Given the description of an element on the screen output the (x, y) to click on. 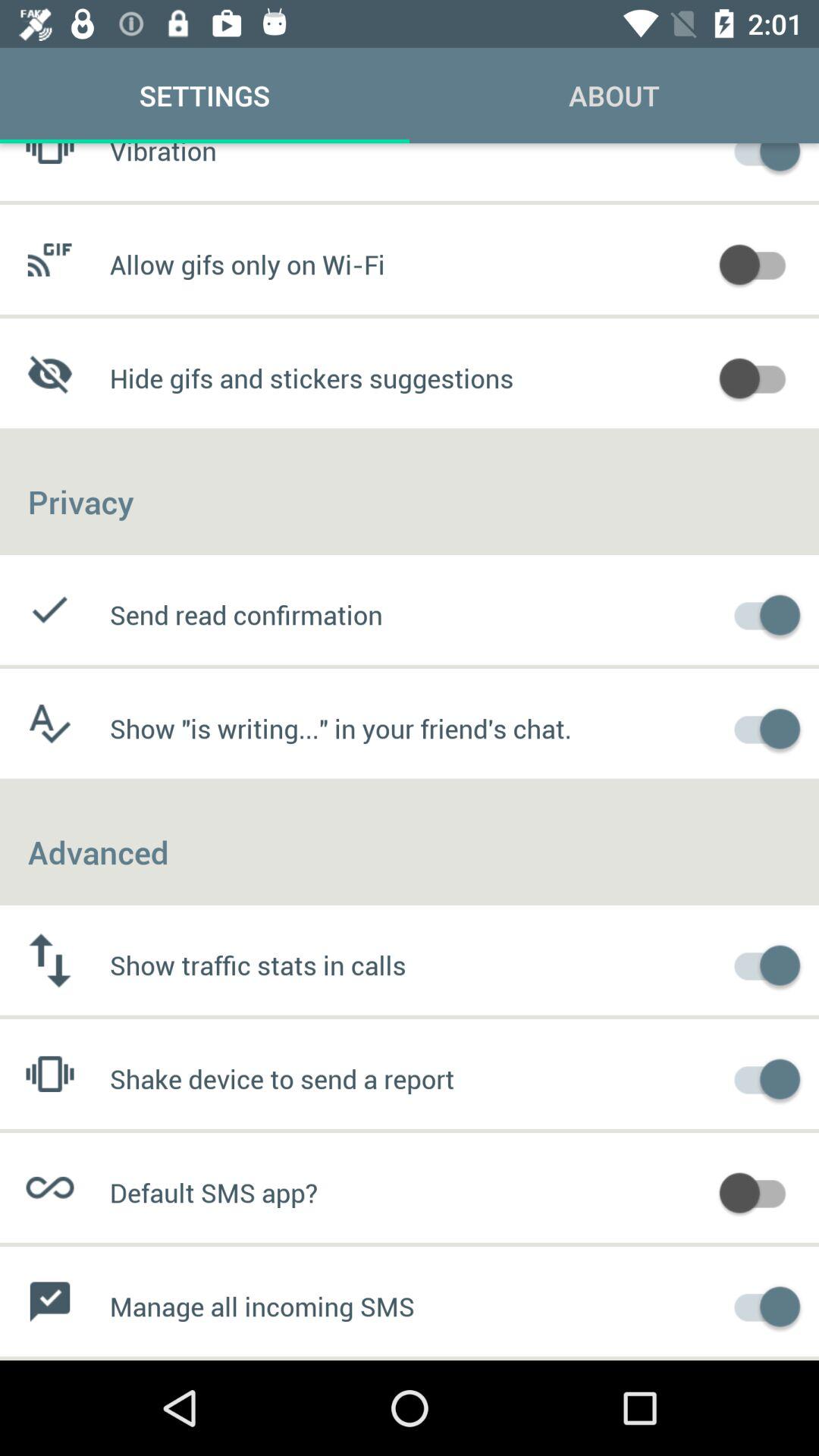
default sms app switch option (759, 1191)
